Given the description of an element on the screen output the (x, y) to click on. 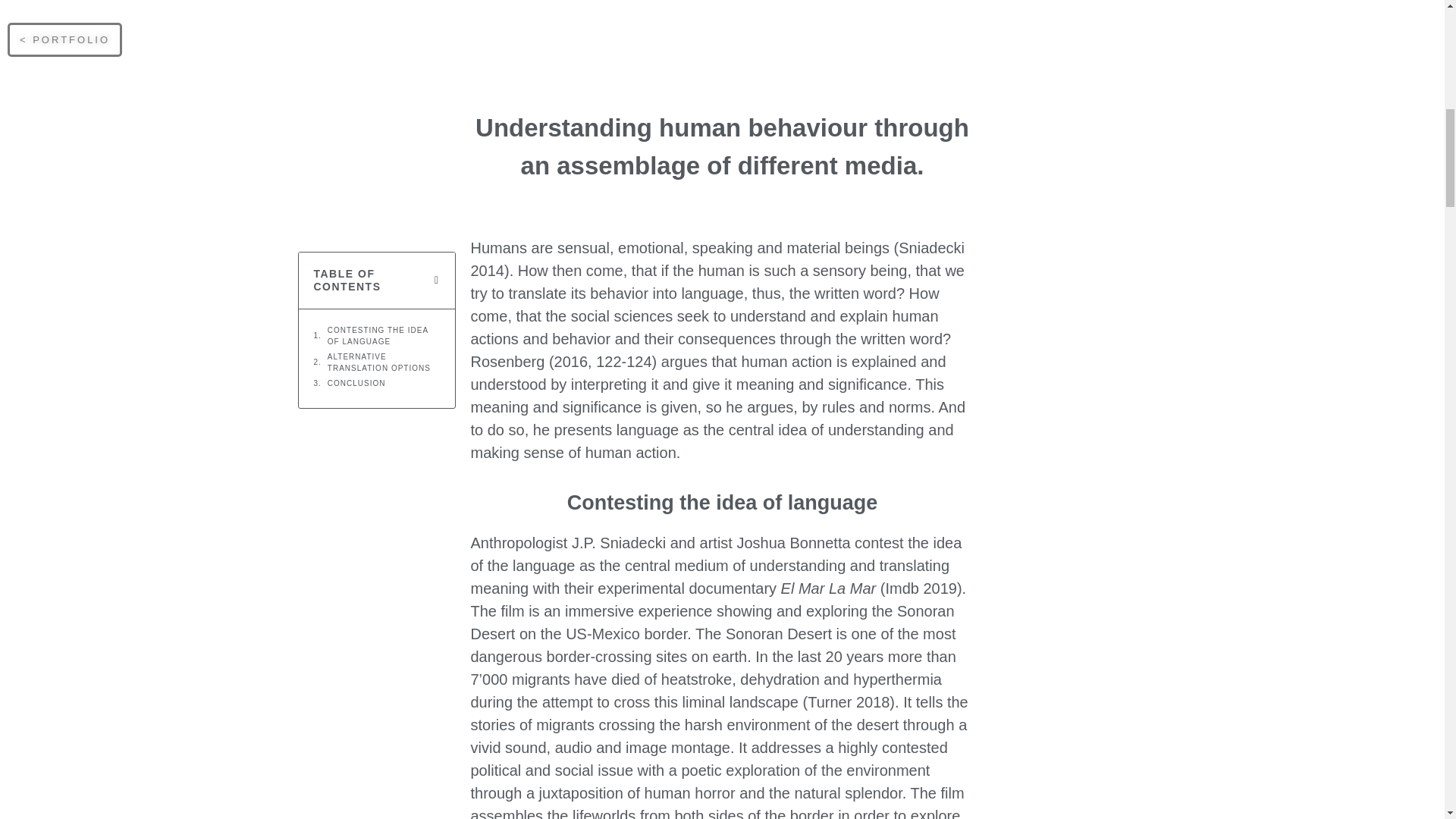
ALTERNATIVE TRANSLATION OPTIONS (383, 362)
CONTESTING THE IDEA OF LANGUAGE (383, 335)
CONCLUSION (356, 383)
